Given the description of an element on the screen output the (x, y) to click on. 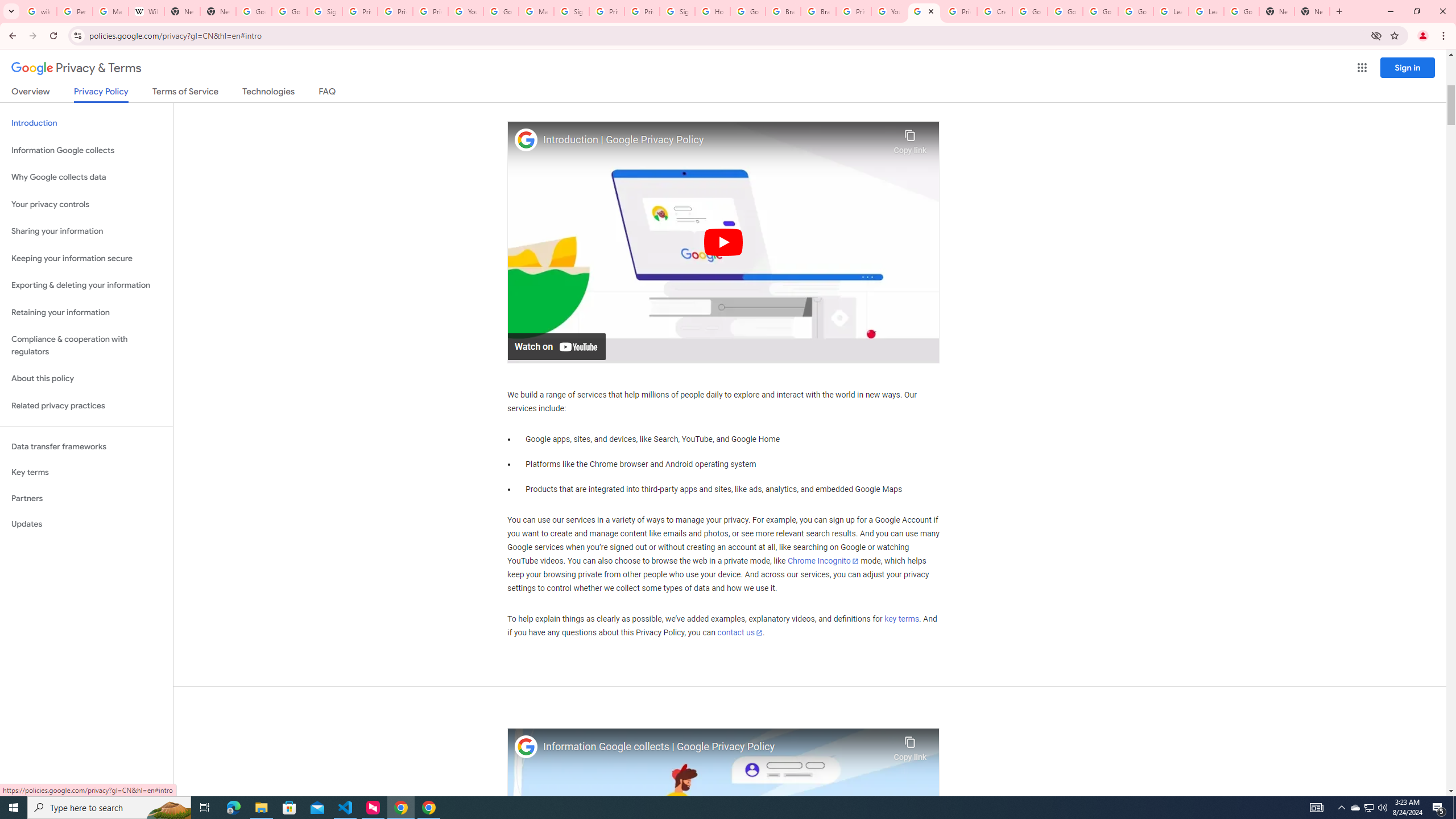
New Tab (1312, 11)
Play (723, 241)
Privacy Policy (100, 94)
Privacy & Terms (76, 68)
Your privacy controls (86, 204)
Create your Google Account (994, 11)
